Given the description of an element on the screen output the (x, y) to click on. 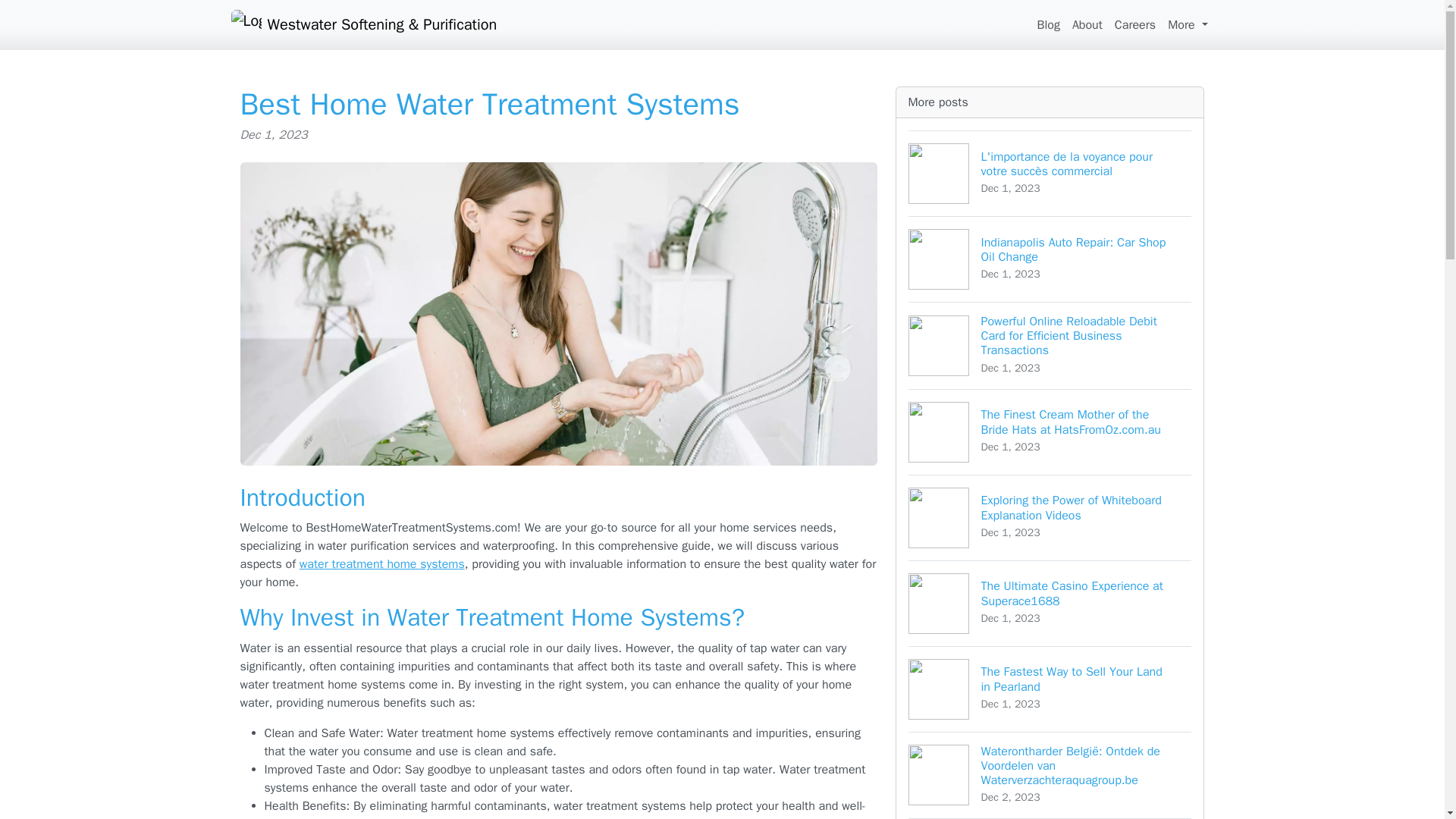
More (1186, 24)
water treatment home systems (381, 563)
Careers (1050, 259)
About (1050, 603)
Blog (1050, 689)
